Given the description of an element on the screen output the (x, y) to click on. 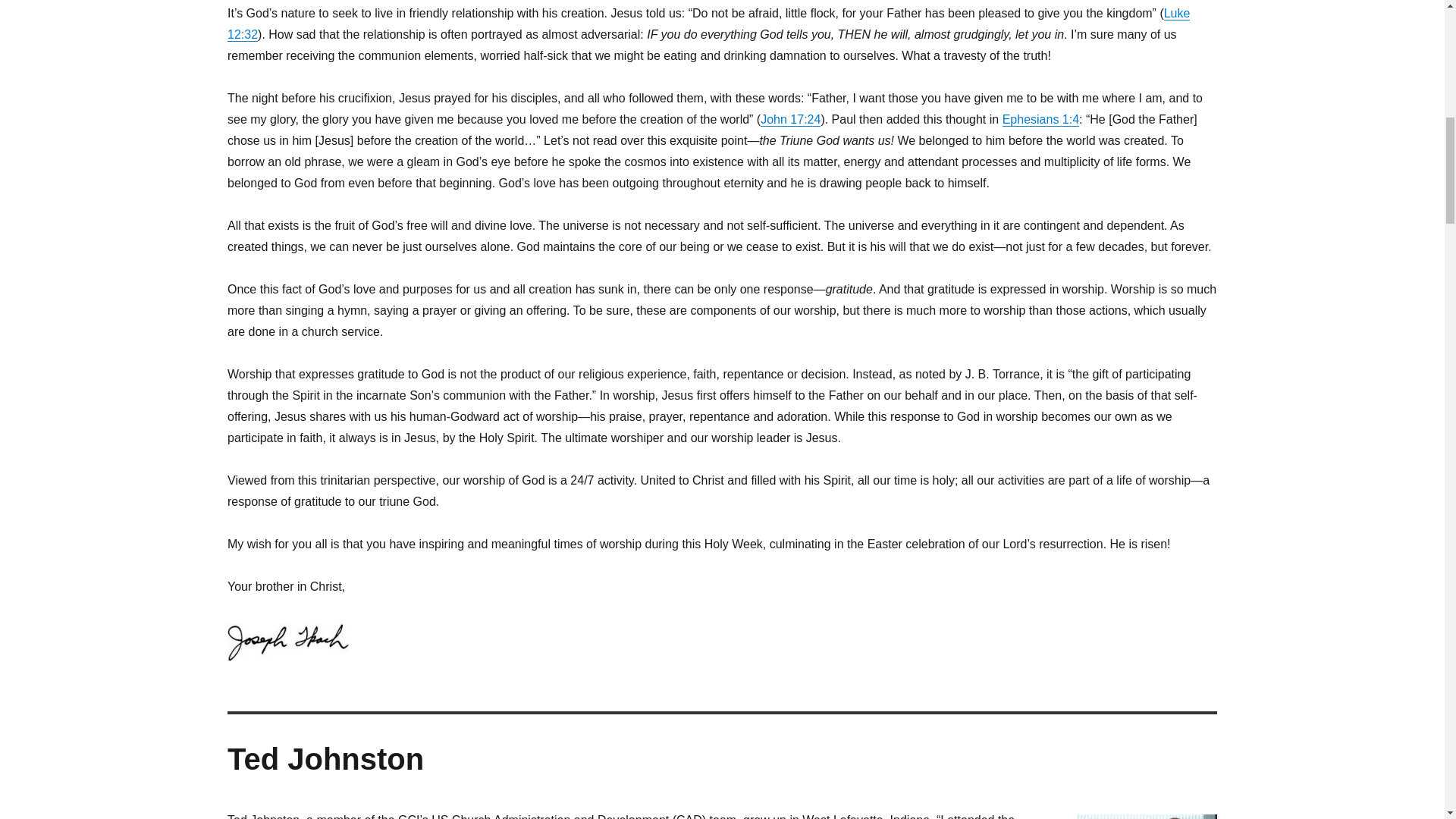
Ephesians 1:4 (1040, 119)
Luke 12:32 (708, 23)
John 17:24 (790, 119)
